Given the description of an element on the screen output the (x, y) to click on. 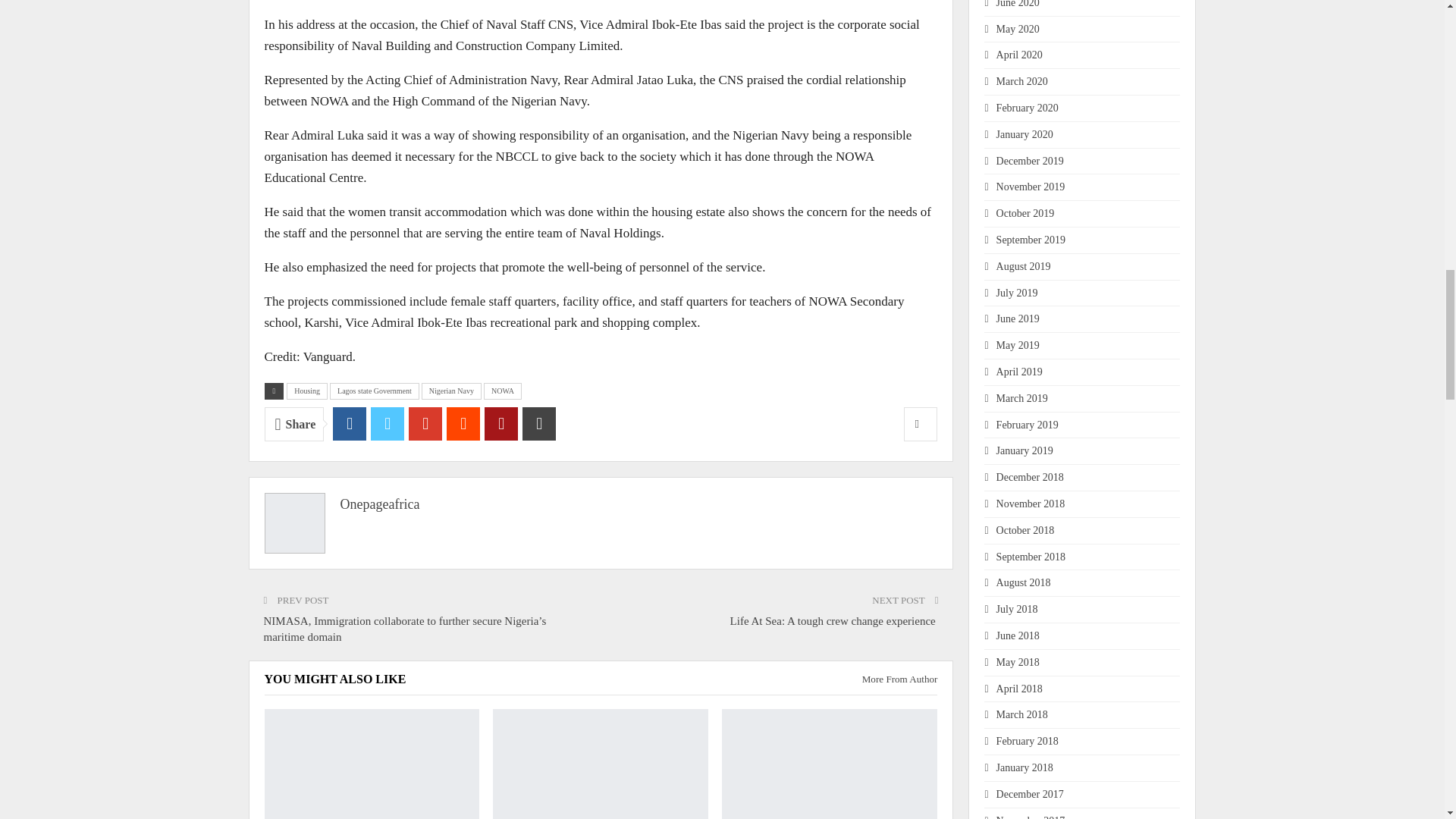
LASG emphasizes importance of good sanitation practices (829, 764)
